Given the description of an element on the screen output the (x, y) to click on. 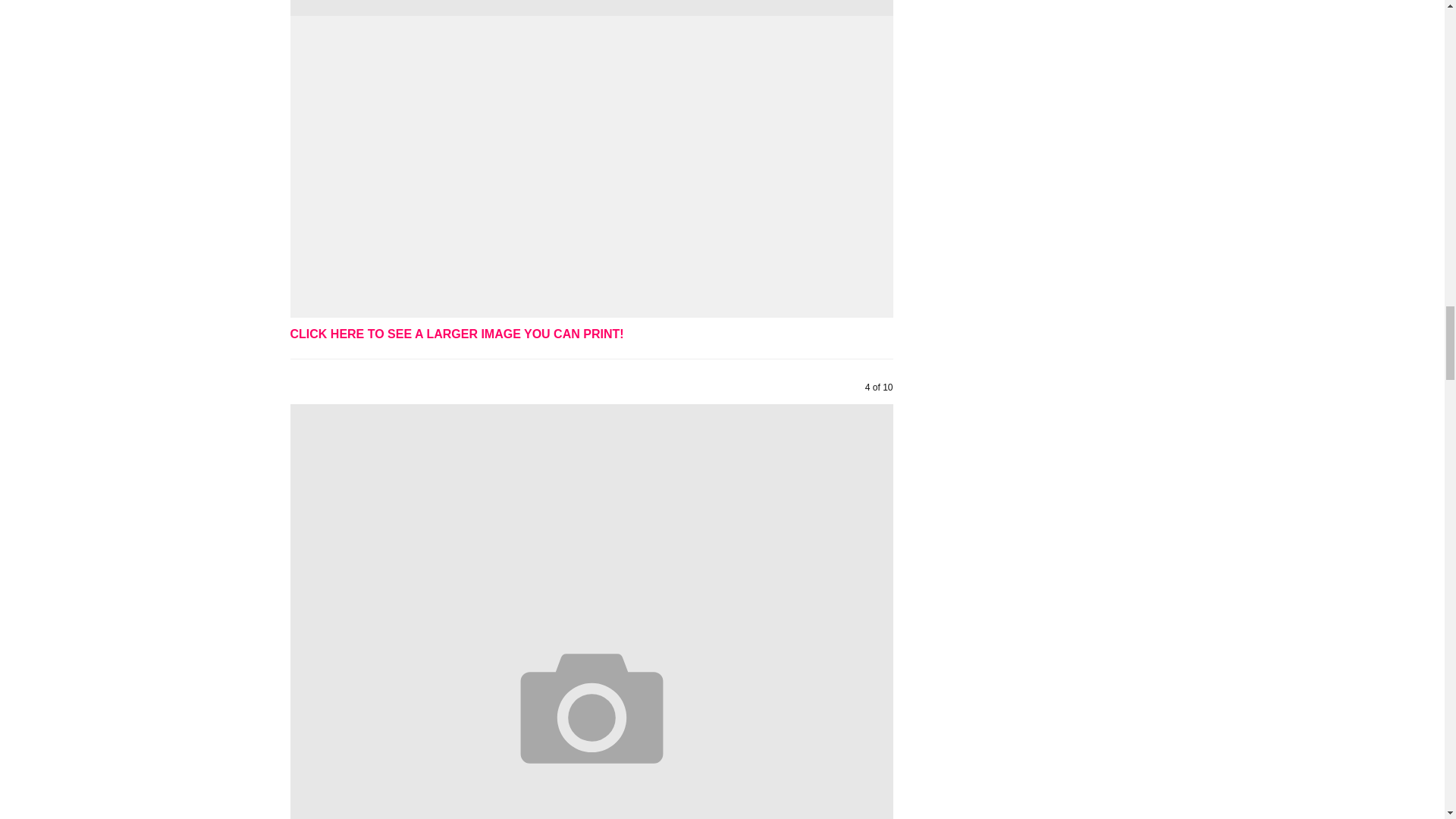
CLICK HERE TO SEE A LARGER IMAGE YOU CAN PRINT! (456, 333)
